Given the description of an element on the screen output the (x, y) to click on. 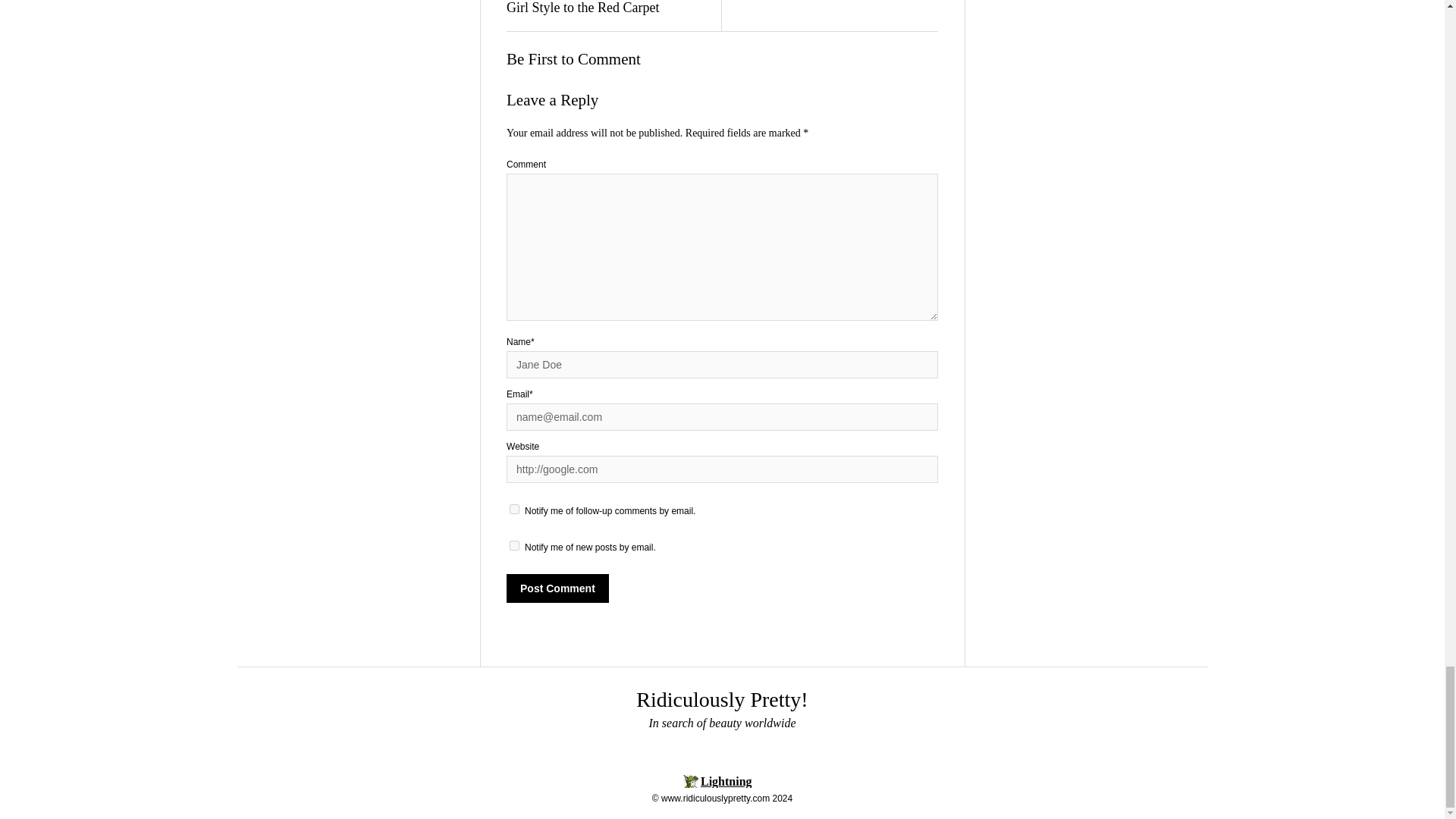
How Halle Berry Brought Pageant Girl Style to the Red Carpet (608, 8)
Post Comment (557, 588)
subscribe (514, 545)
subscribe (514, 509)
Post Comment (557, 588)
Ridiculously Pretty! (722, 699)
